Given the description of an element on the screen output the (x, y) to click on. 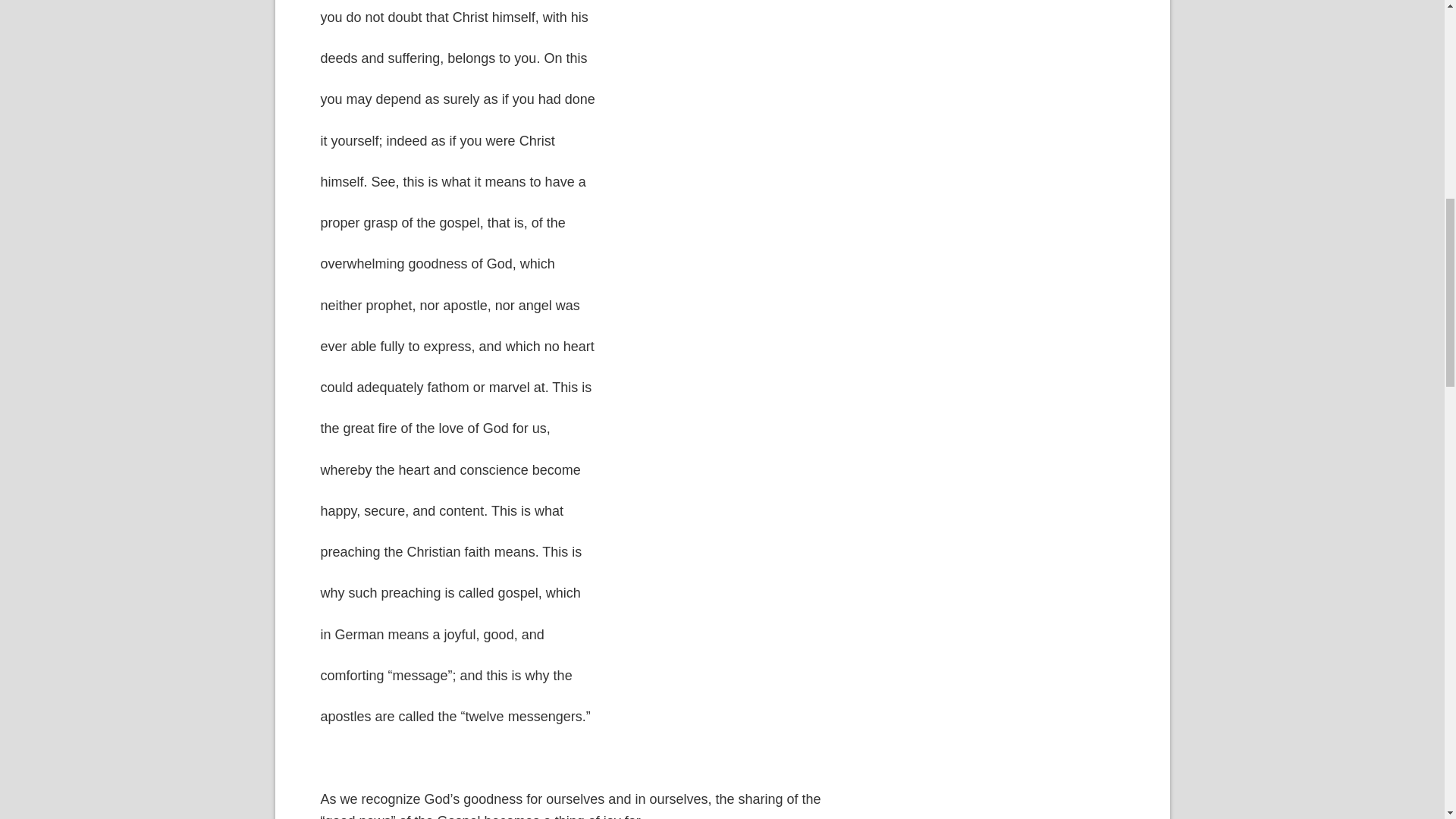
Page 1 (585, 803)
